Given the description of an element on the screen output the (x, y) to click on. 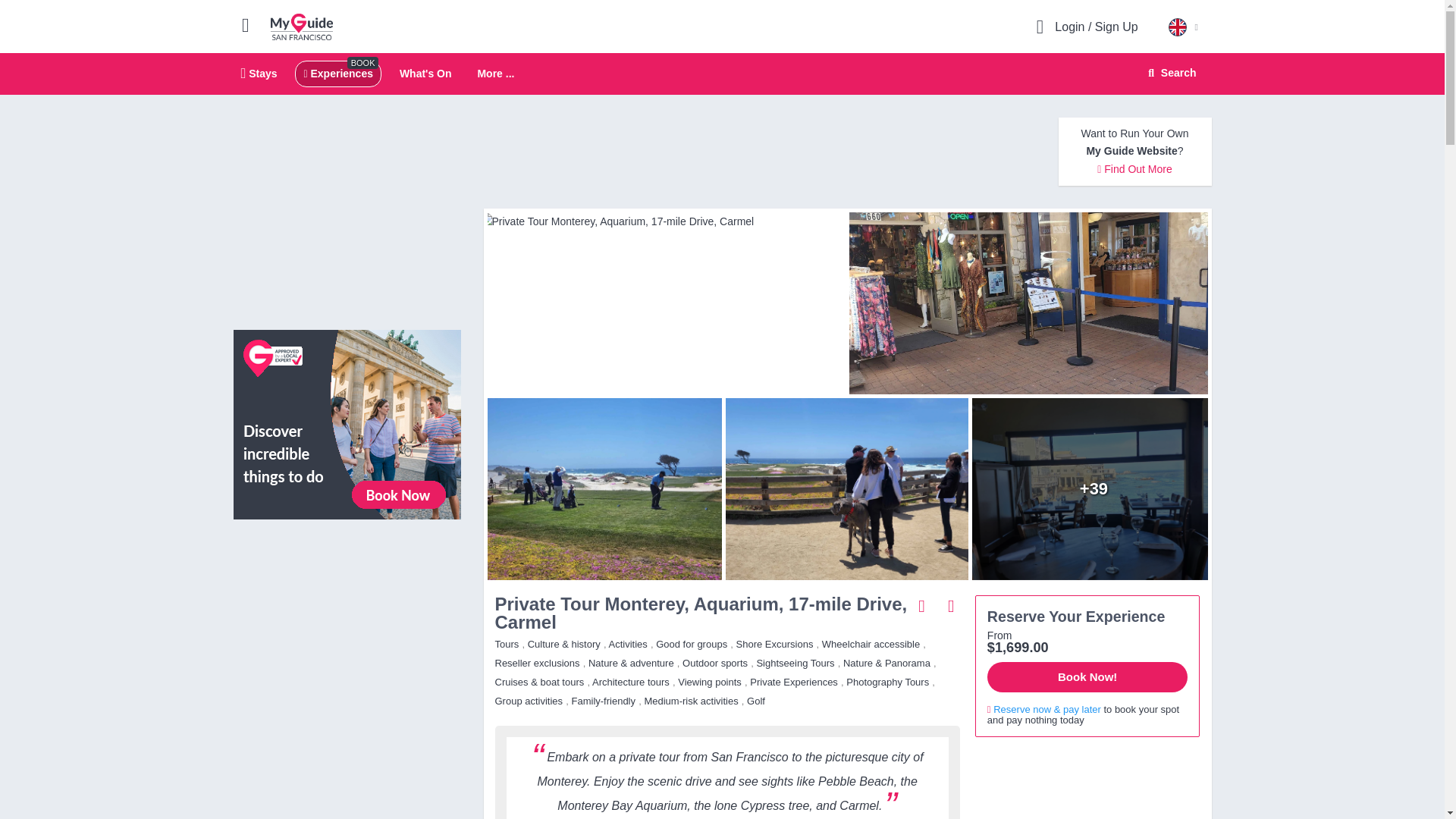
Private Tour Monterey, Aquarium, 17-mile Drive, Carmel (1093, 488)
GetYourGuide Widget (1087, 783)
More ... (495, 73)
Private Tour Monterey, Aquarium, 17-mile Drive, Carmel (846, 488)
GetYourGuide Widget (346, 599)
Search (1169, 72)
Stays (259, 73)
Private Tour Monterey, Aquarium, 17-mile Drive, Carmel (662, 221)
Private Tour Monterey, Aquarium, 17-mile Drive, Carmel (1031, 302)
My Guide San Francisco (301, 25)
What's On (424, 73)
Experiences (721, 74)
Private Tour Monterey, Aquarium, 17-mile Drive, Carmel (337, 73)
